Given the description of an element on the screen output the (x, y) to click on. 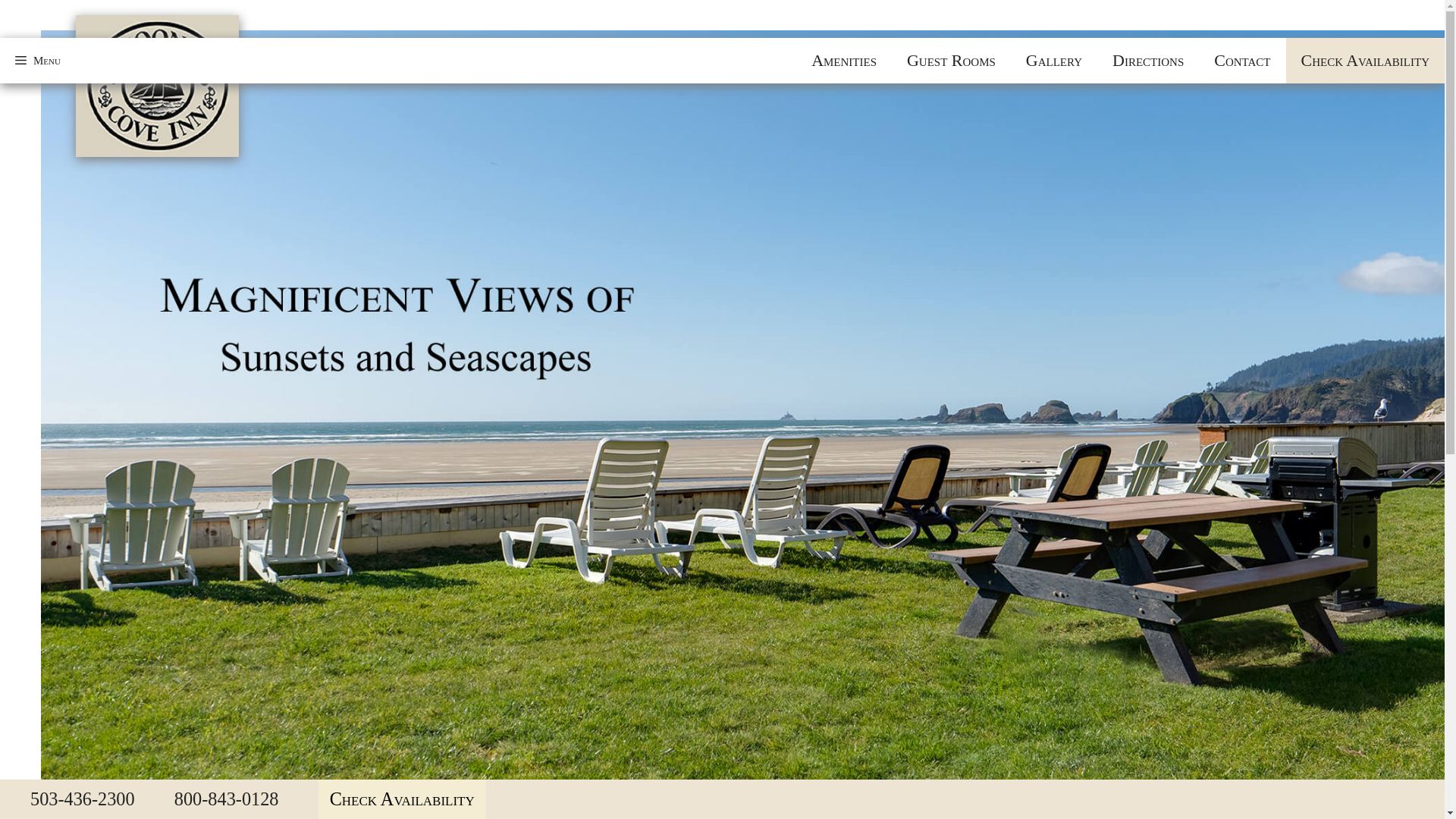
Contact (1241, 60)
Gallery (1053, 60)
Check Availability (402, 799)
Directions (1147, 60)
Guest Rooms (950, 60)
Amenities (843, 60)
Menu (37, 60)
